Given the description of an element on the screen output the (x, y) to click on. 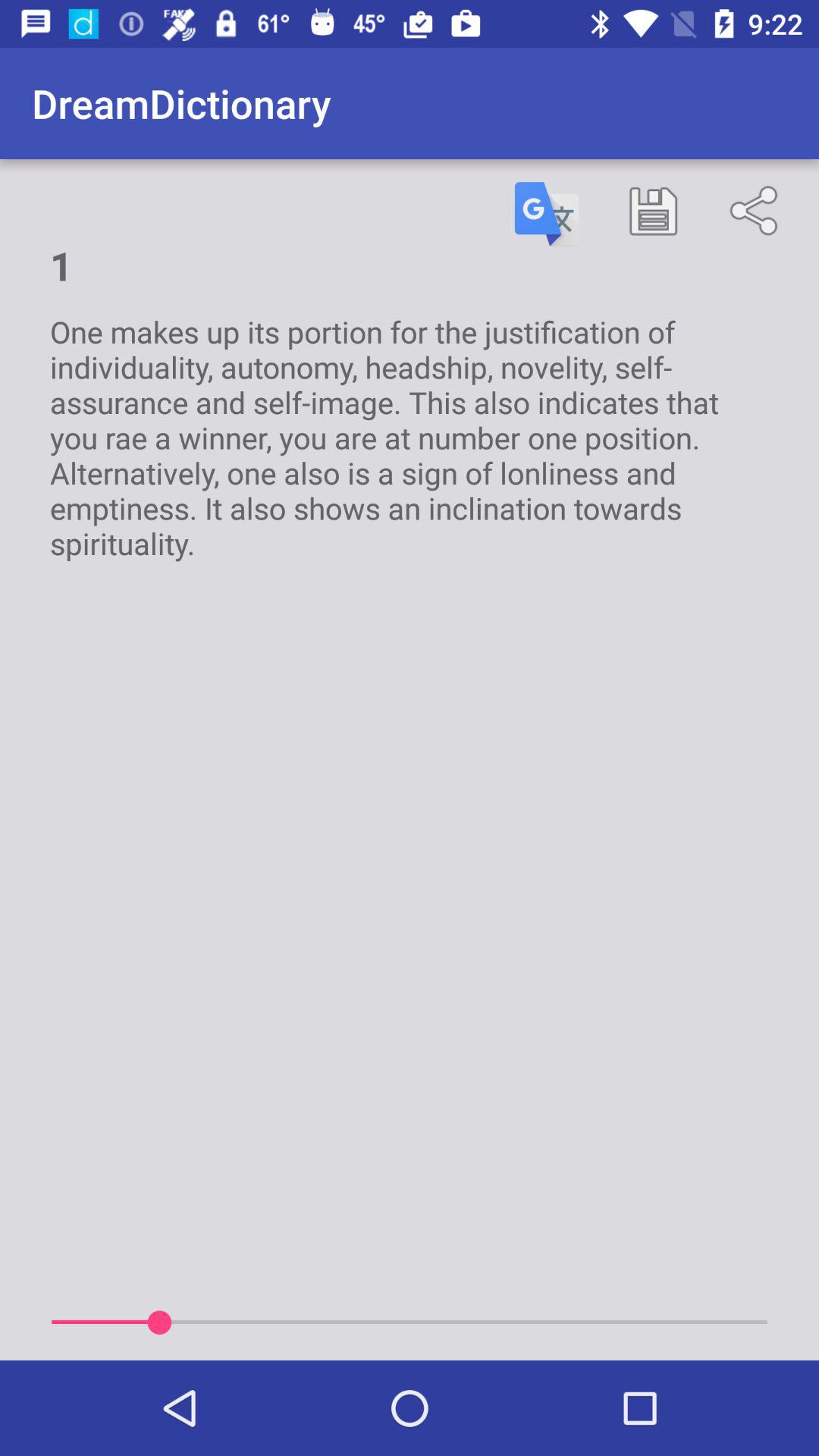
tap item next to the 1 (546, 214)
